Given the description of an element on the screen output the (x, y) to click on. 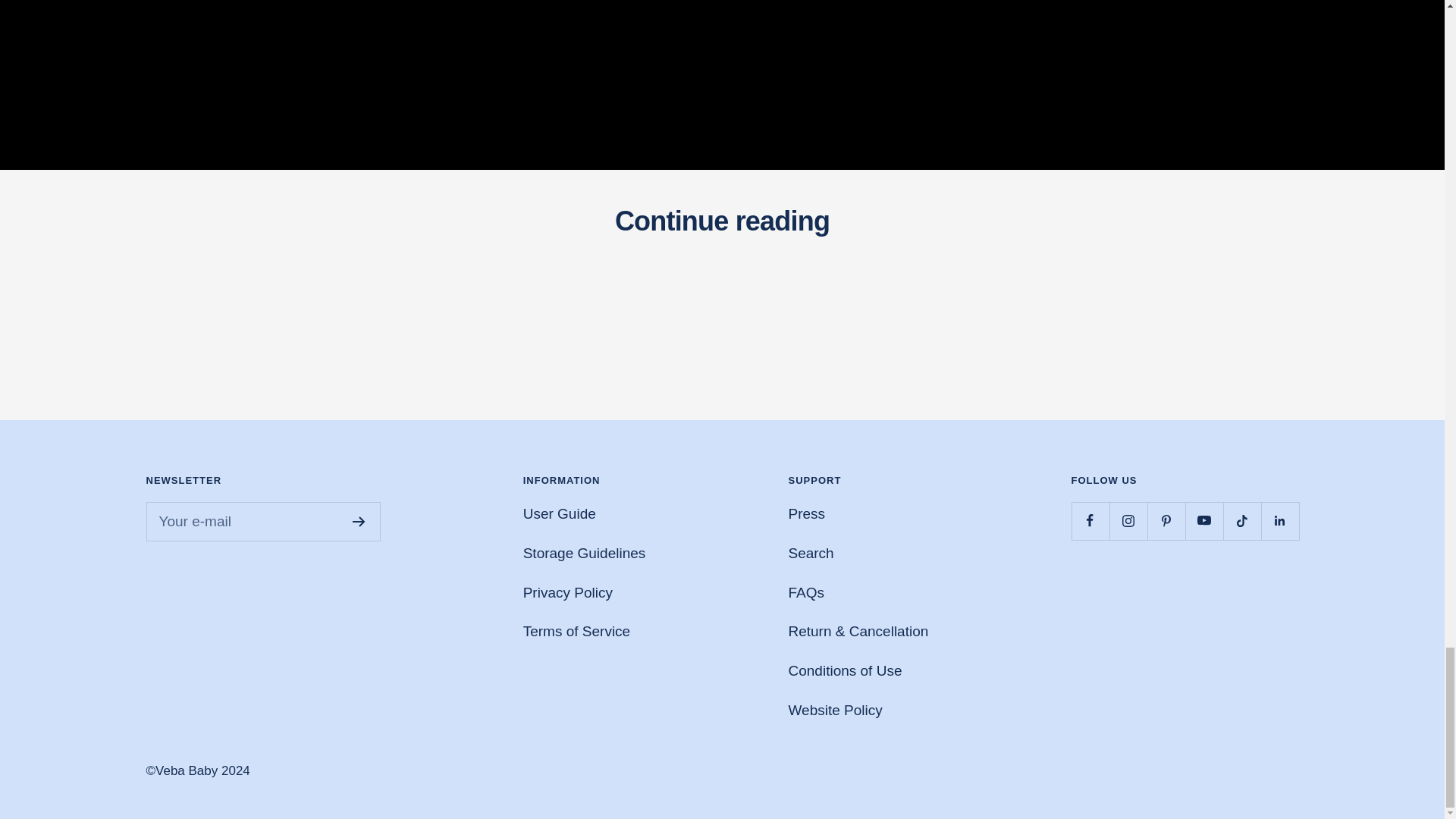
FAQs (805, 592)
Privacy Policy (567, 592)
Website Policy (834, 709)
Register (358, 521)
search (809, 553)
Terms of Service (576, 631)
Conditions of Use (844, 670)
Return and Cancelation (857, 631)
